Given the description of an element on the screen output the (x, y) to click on. 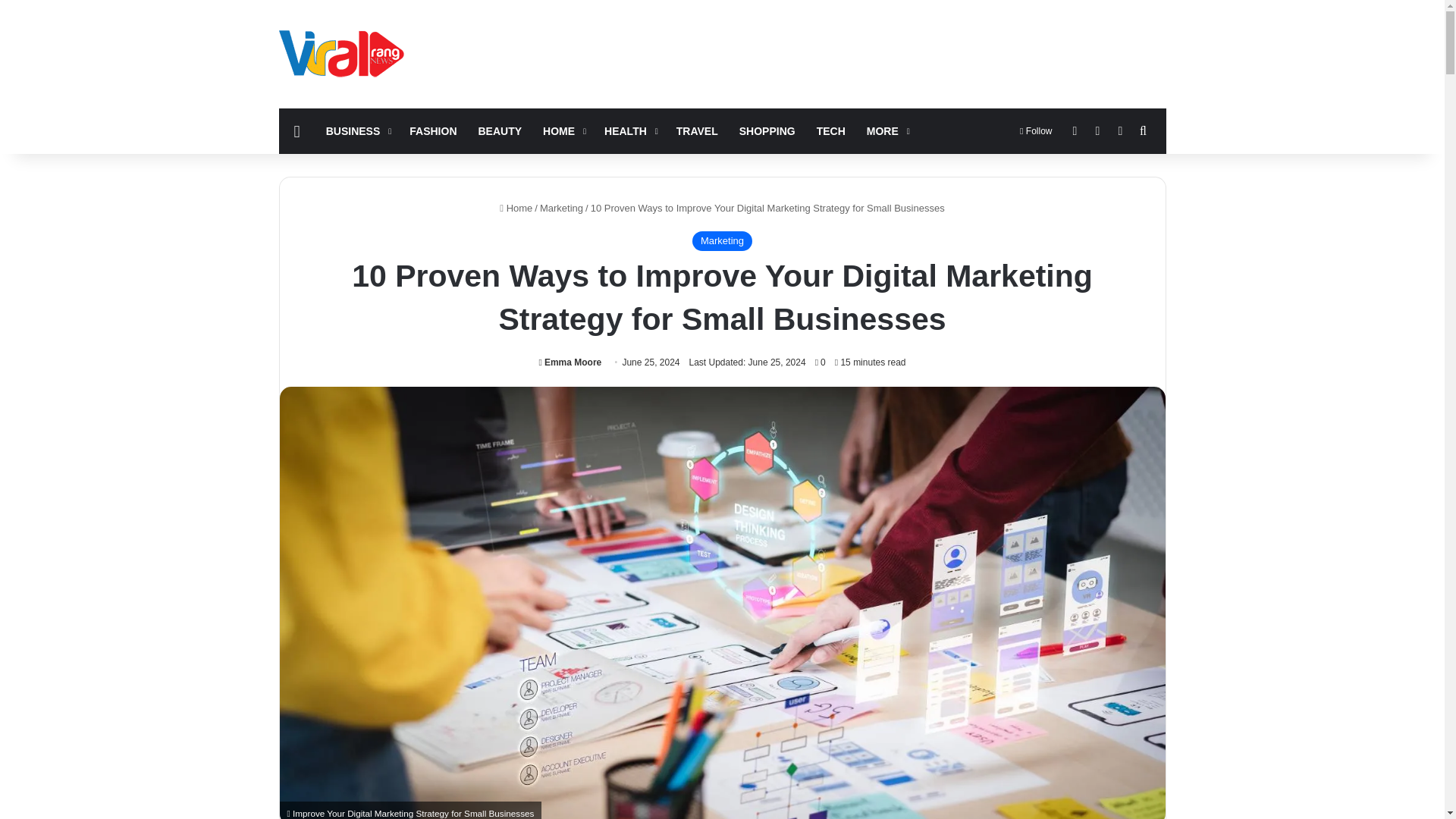
FASHION (432, 130)
Emma Moore (569, 362)
BUSINESS (356, 130)
Follow (1035, 130)
TRAVEL (697, 130)
HOME (563, 130)
SHOPPING (767, 130)
HEALTH (629, 130)
MORE (886, 130)
BEAUTY (499, 130)
